Given the description of an element on the screen output the (x, y) to click on. 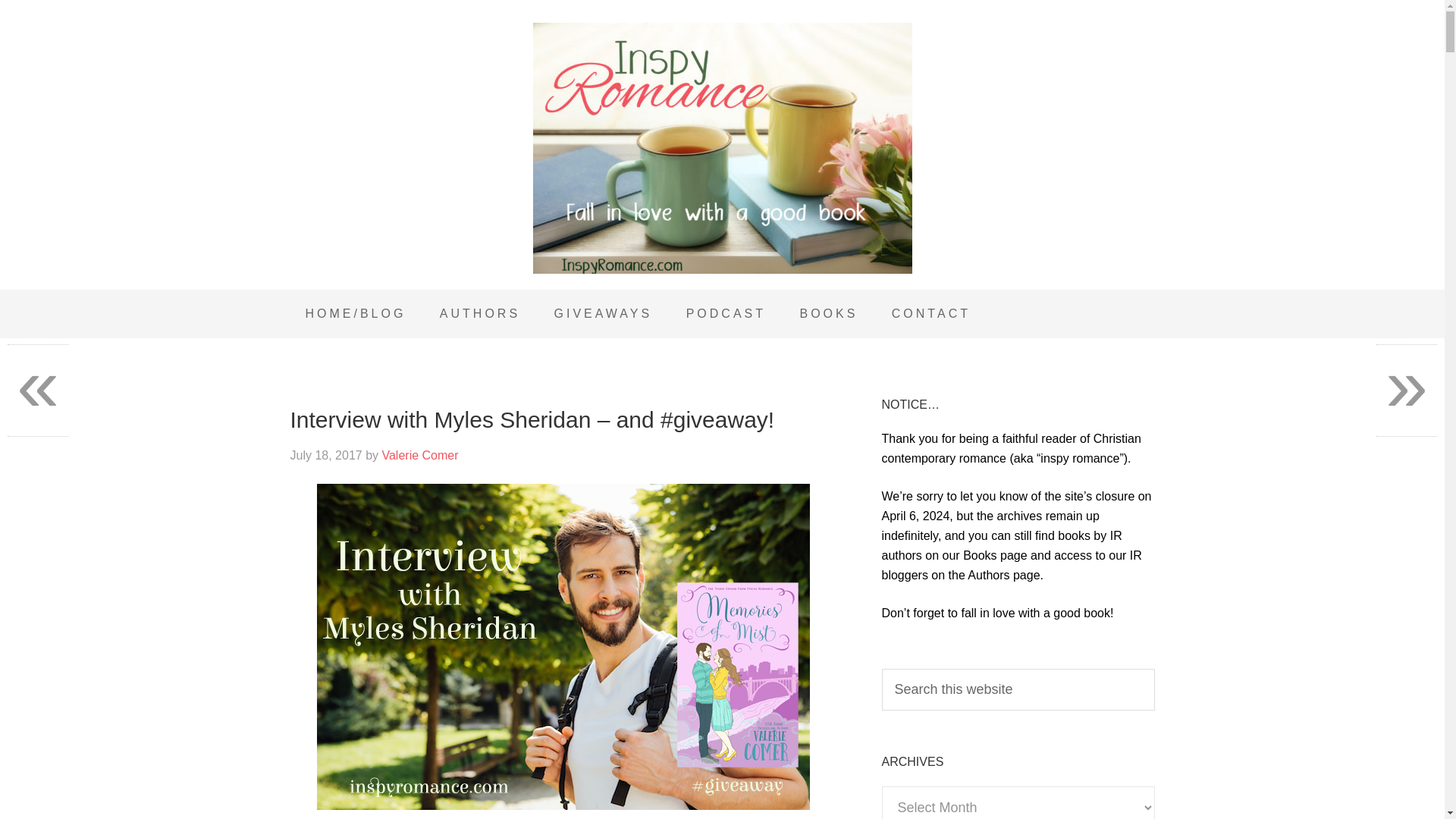
Valerie Comer (419, 454)
GIVEAWAYS (603, 313)
CONTACT (930, 313)
PODCAST (725, 313)
AUTHORS (480, 313)
BOOKS (828, 313)
